Given the description of an element on the screen output the (x, y) to click on. 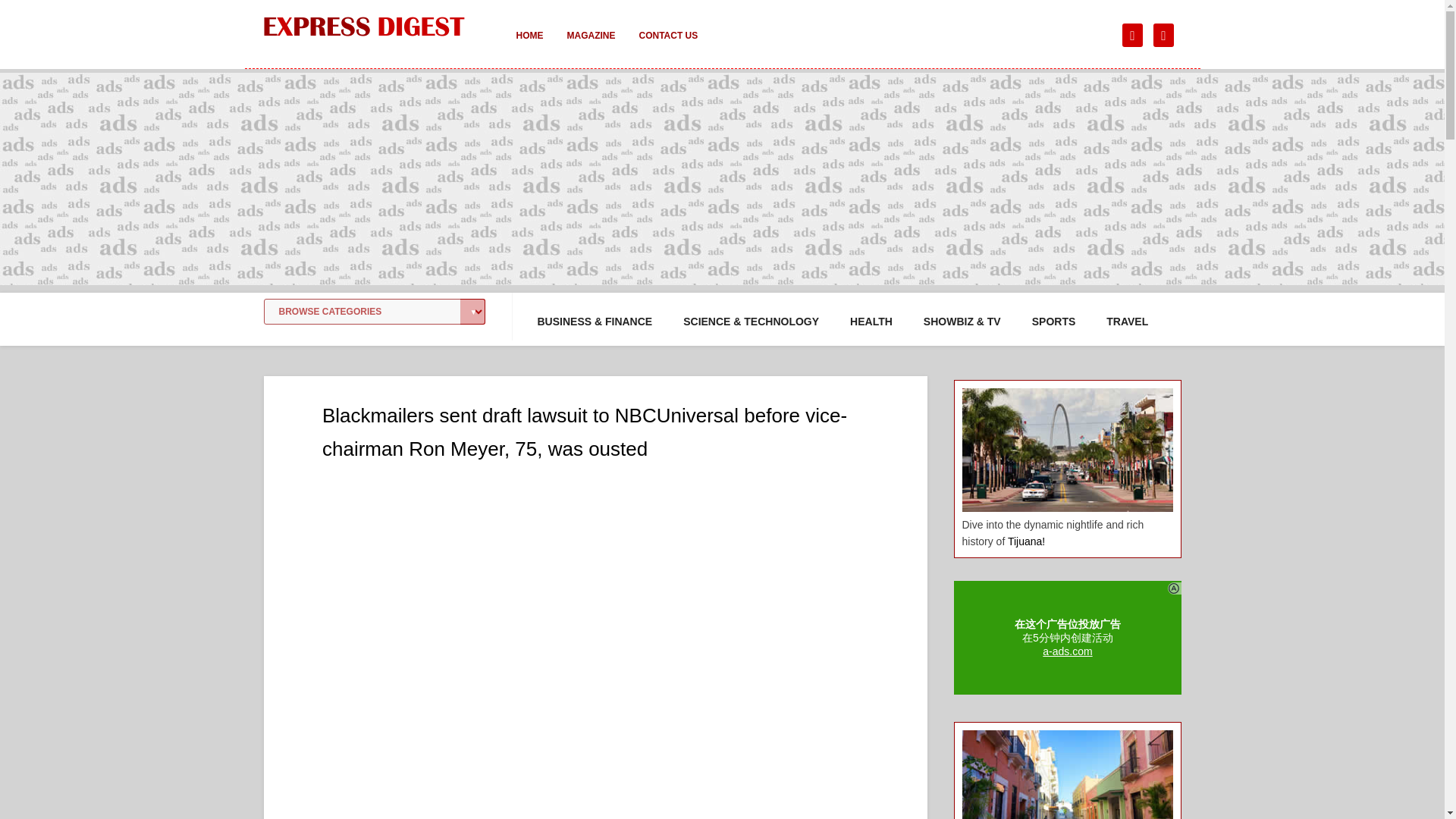
HEALTH (871, 321)
TRAVEL (1127, 321)
Tijuana! (1026, 541)
SPORTS (1053, 321)
CONTACT US (667, 45)
MAGAZINE (590, 45)
HOME (528, 45)
